Given the description of an element on the screen output the (x, y) to click on. 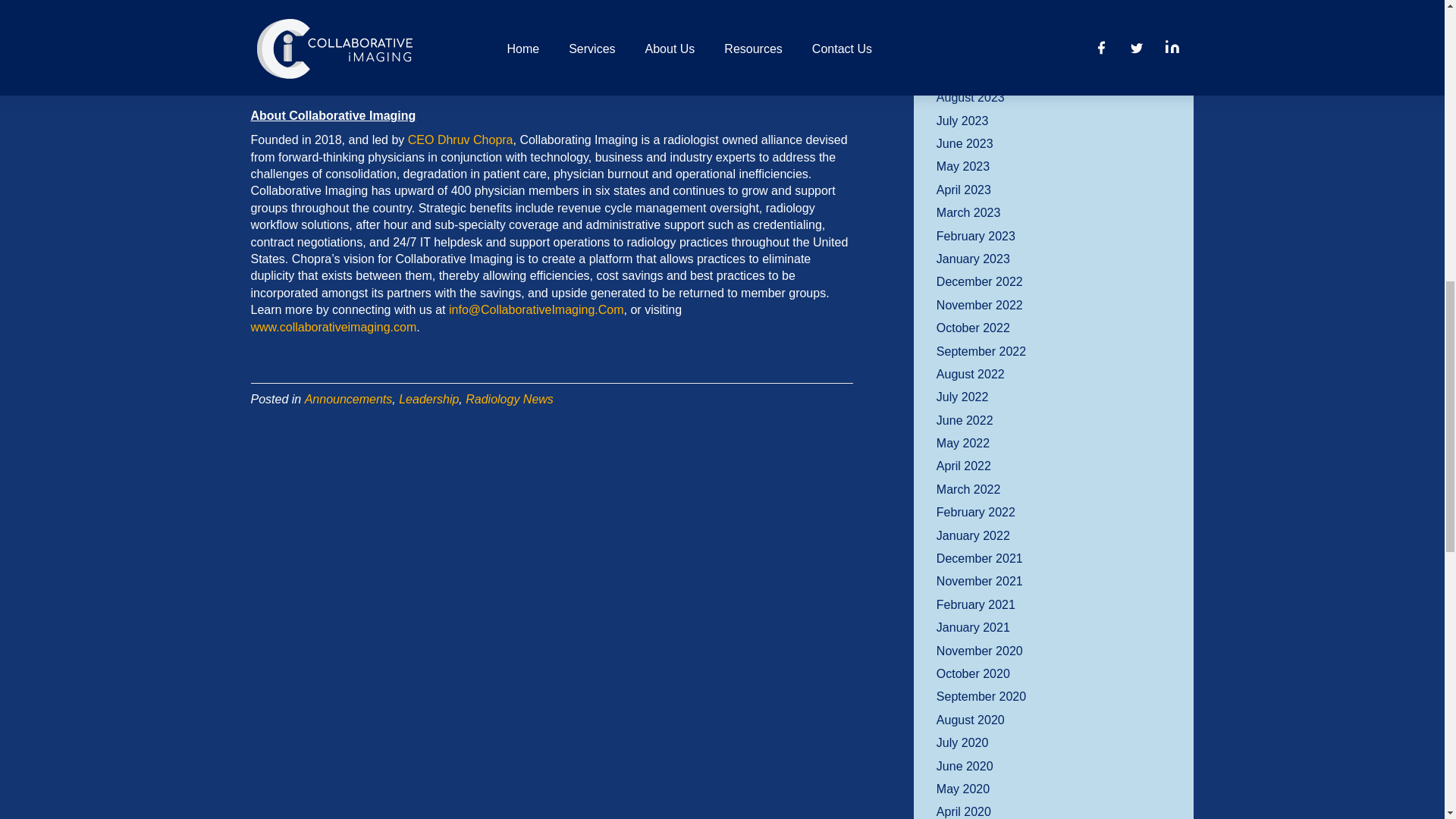
CEO Dhruv Chopra (460, 139)
www.collaborativeimaging.com (333, 327)
Leadership (428, 399)
Radiology News (509, 399)
Announcements (348, 399)
